Given the description of an element on the screen output the (x, y) to click on. 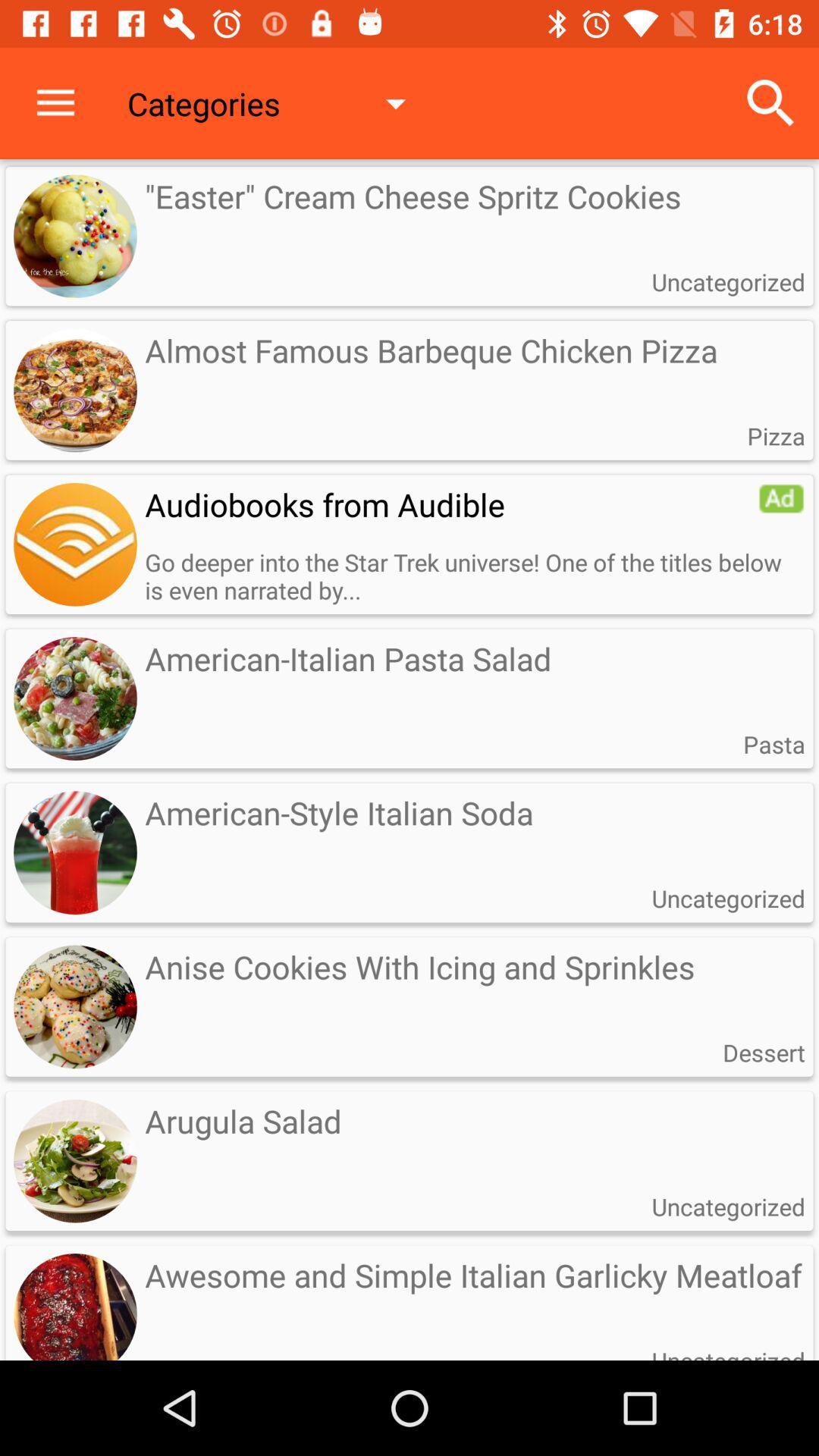
advertisement link (75, 544)
